Given the description of an element on the screen output the (x, y) to click on. 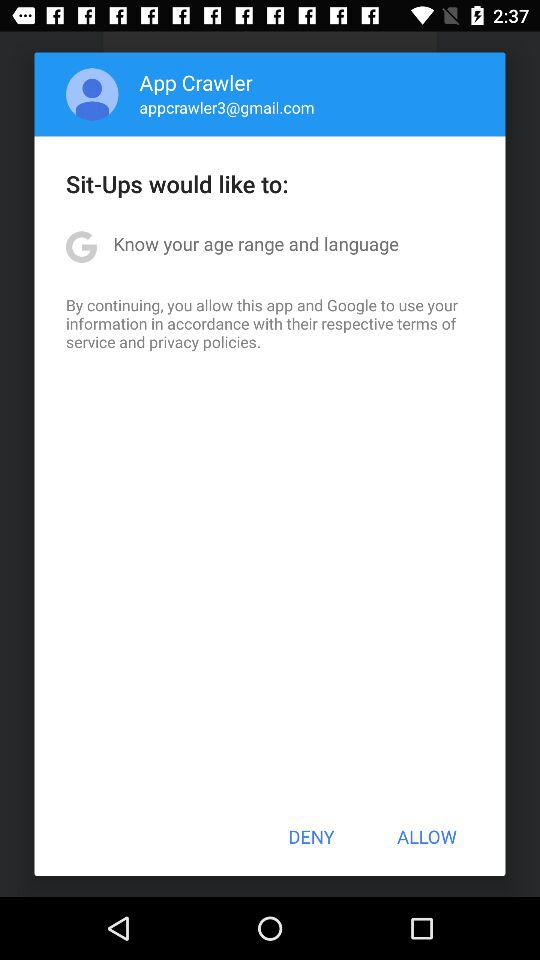
scroll to the deny (311, 836)
